Given the description of an element on the screen output the (x, y) to click on. 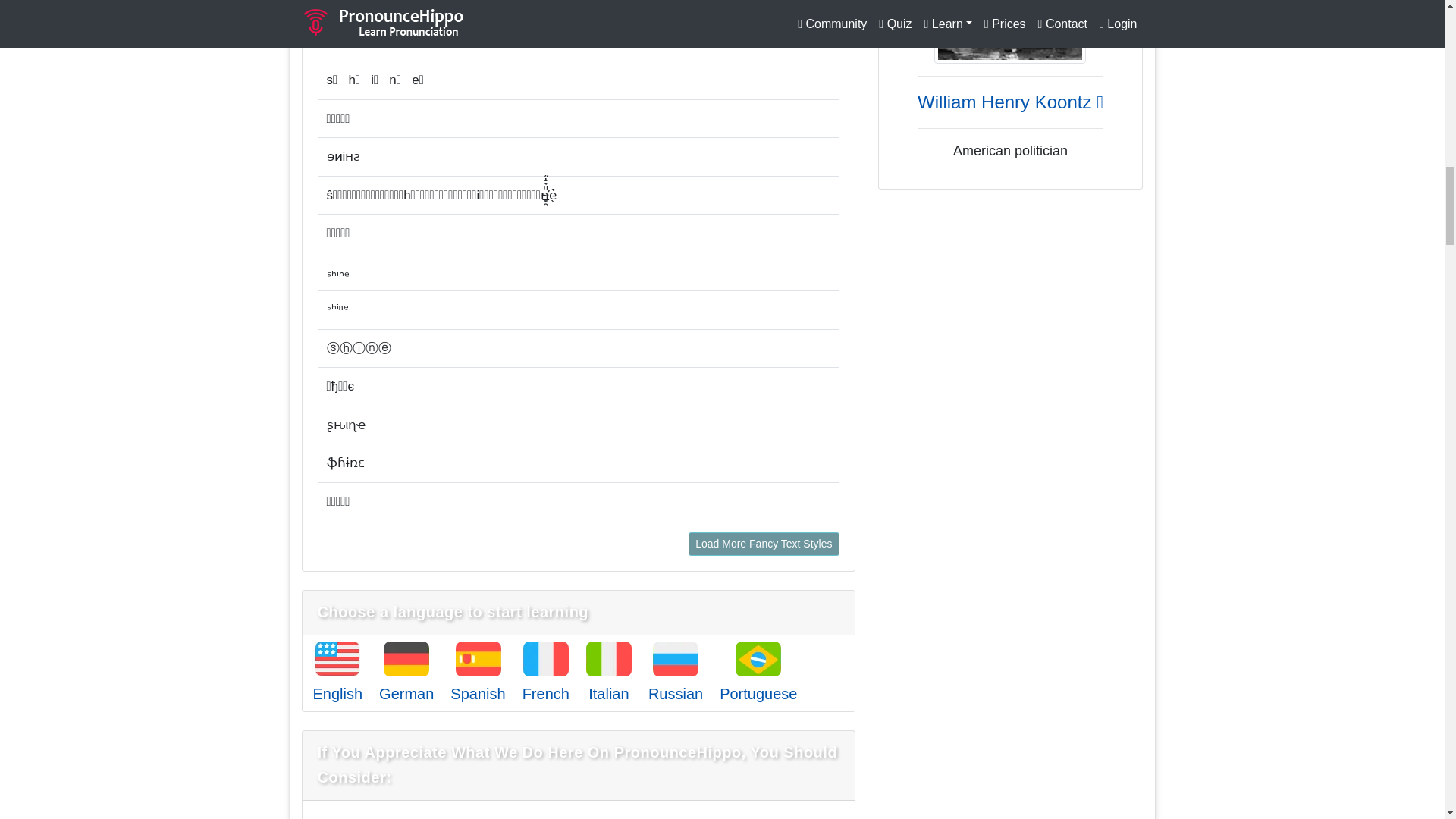
Spanish (477, 693)
English (337, 693)
French (545, 693)
German (405, 693)
Russian (675, 693)
Load More Fancy Text Styles (763, 544)
Portuguese (757, 693)
Italian (608, 693)
